Given the description of an element on the screen output the (x, y) to click on. 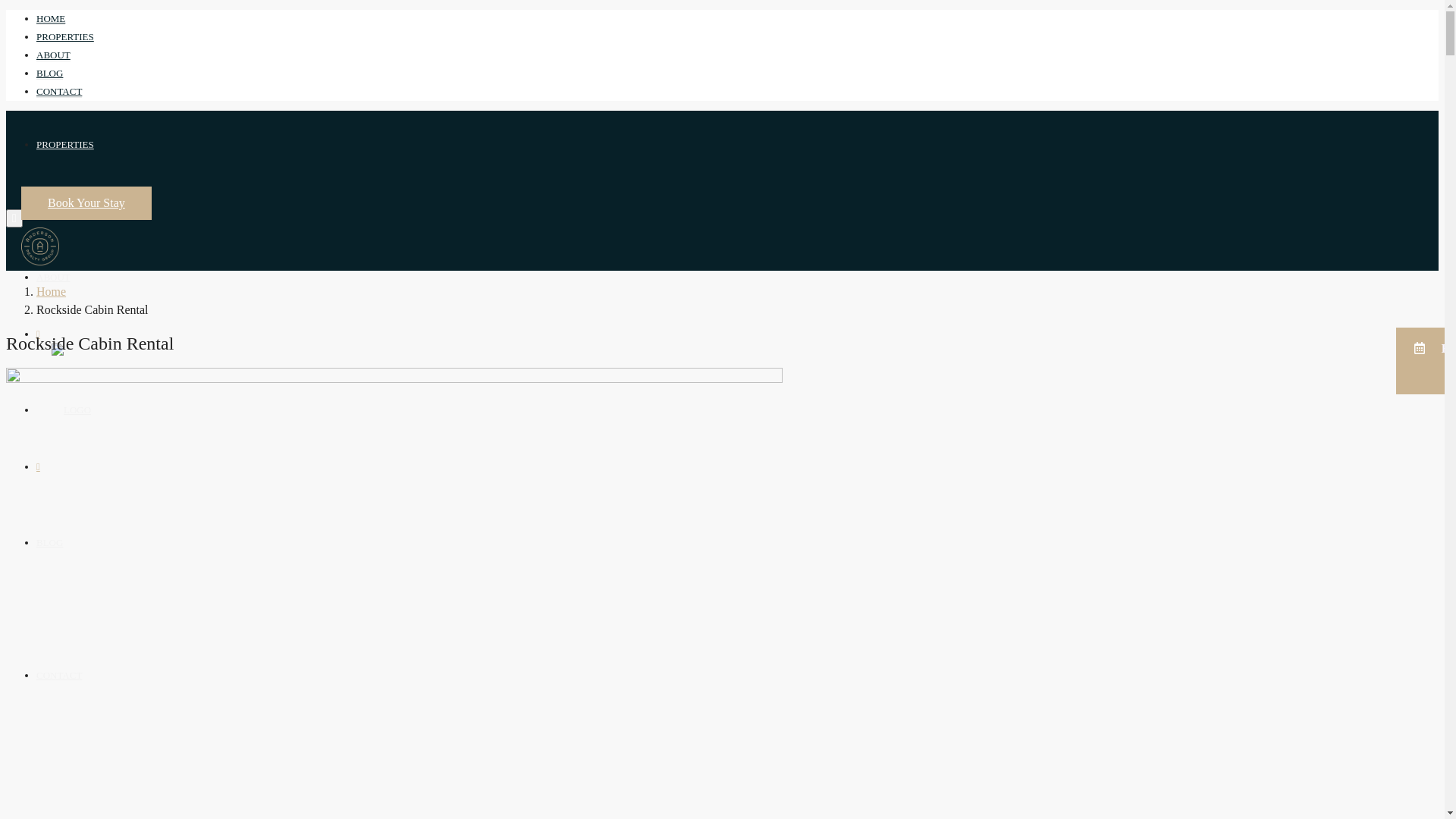
Book Your Stay Element type: text (86, 202)
PROPERTIES Element type: text (65, 144)
ABOUT Element type: text (53, 55)
HOME Element type: text (50, 18)
BLOG Element type: text (49, 542)
PROPERTIES Element type: text (65, 37)
Home Element type: text (50, 291)
ABOUT Element type: text (53, 276)
BLOG Element type: text (49, 73)
CONTACT Element type: text (58, 674)
CONTACT Element type: text (58, 91)
